Given the description of an element on the screen output the (x, y) to click on. 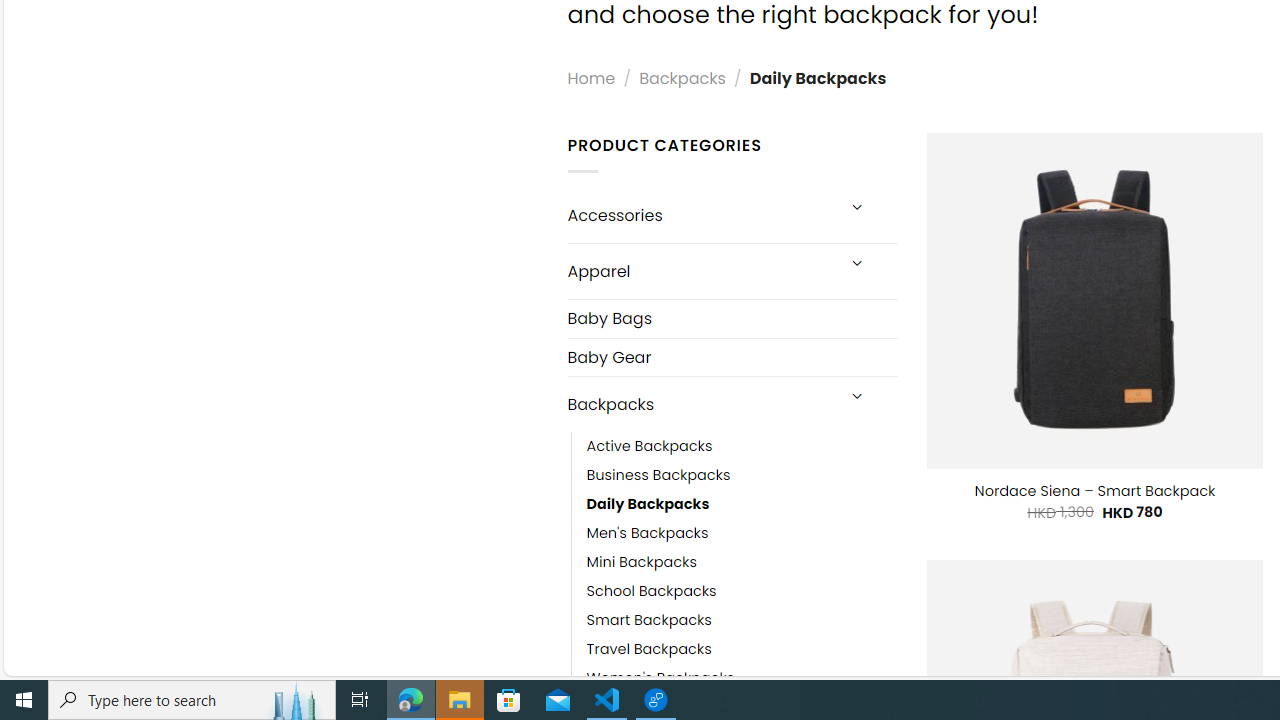
School Backpacks (651, 591)
